Given the description of an element on the screen output the (x, y) to click on. 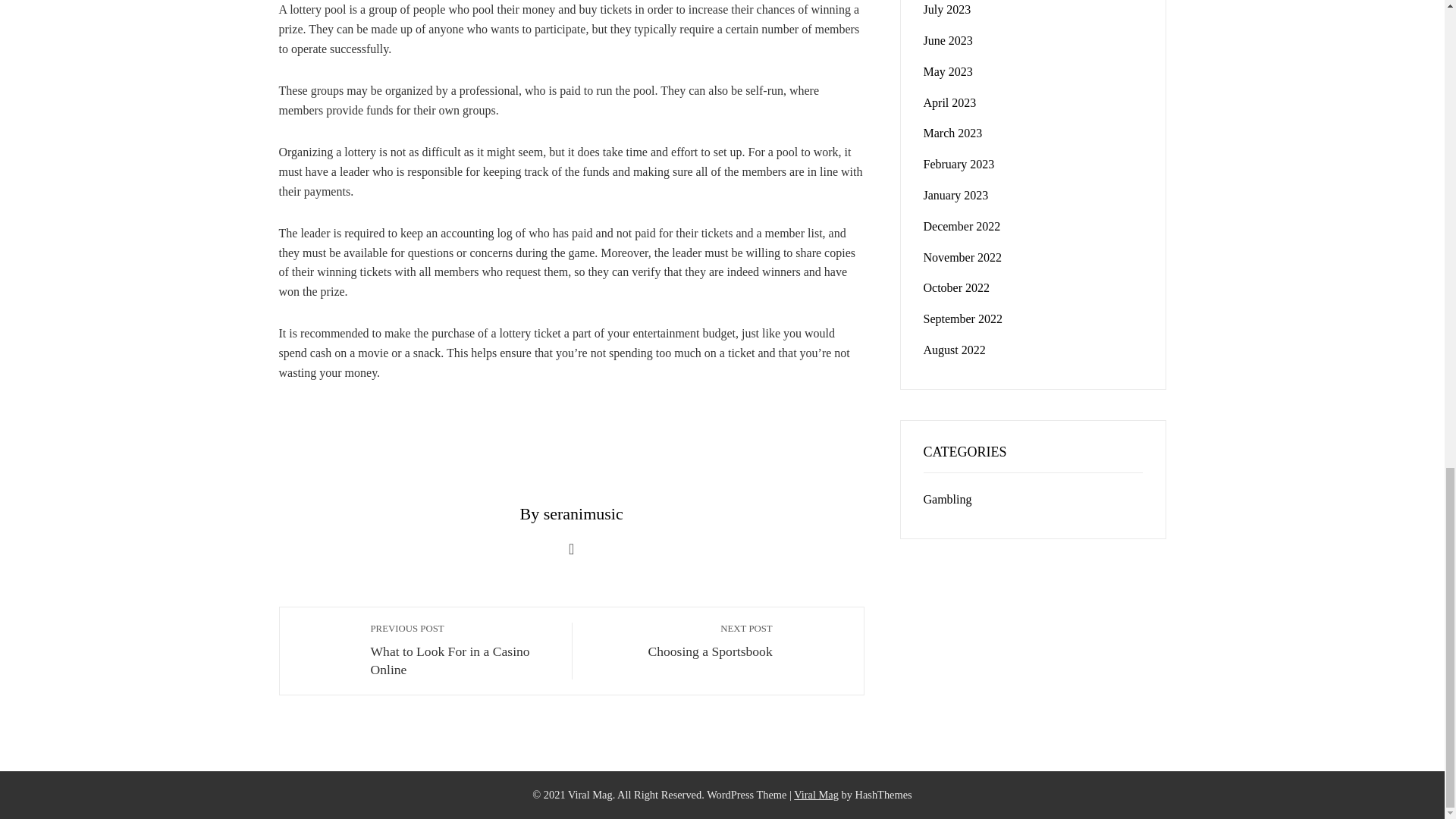
February 2023 (462, 650)
May 2023 (958, 164)
April 2023 (947, 71)
Download Viral News (949, 102)
March 2023 (680, 640)
June 2023 (815, 794)
July 2023 (952, 132)
January 2023 (947, 40)
